Given the description of an element on the screen output the (x, y) to click on. 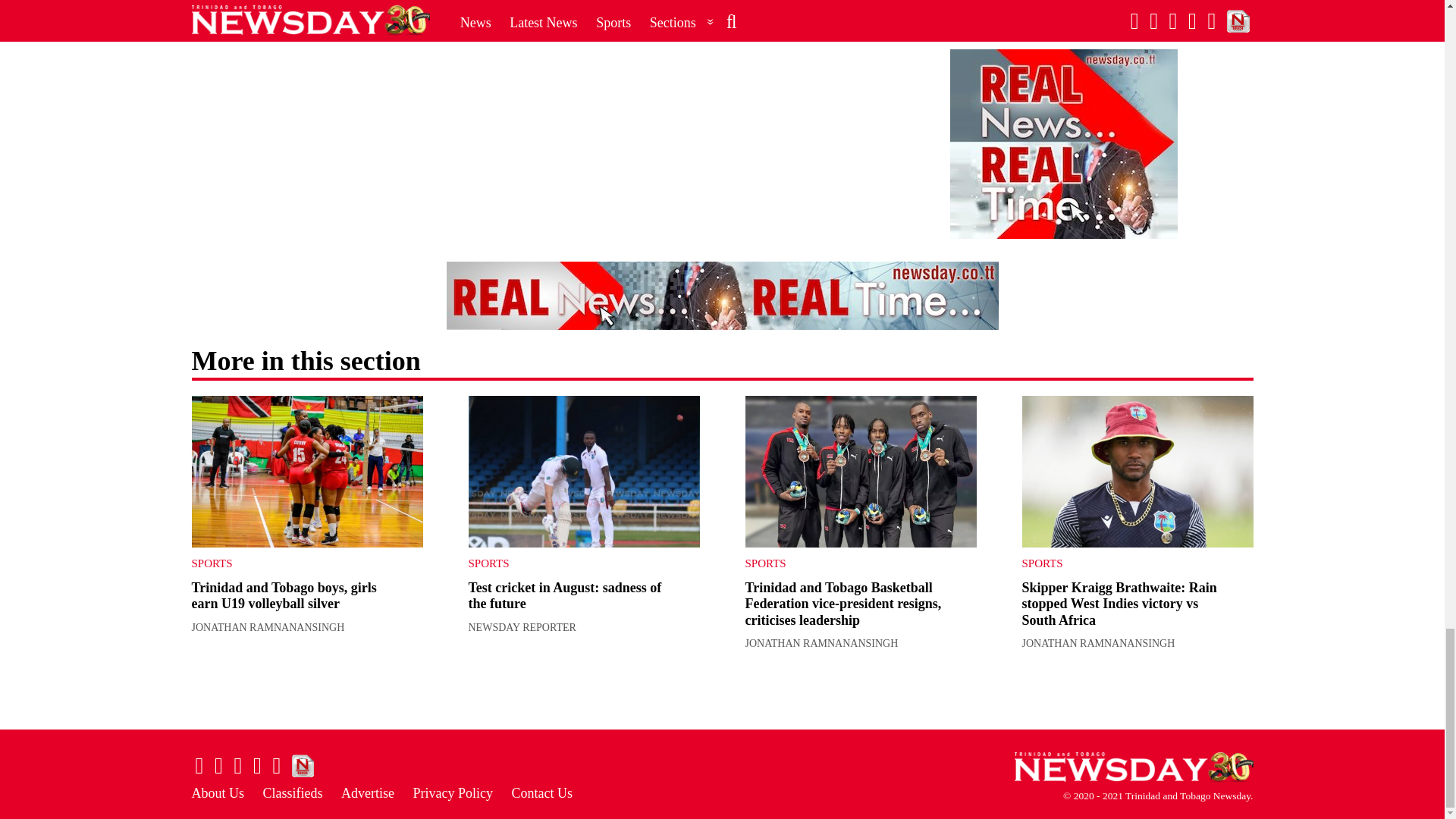
Trinidad and Tobago boys, girls earn U19 volleyball silver (282, 595)
SPORTS (294, 563)
Test cricket in August: sadness of the future (584, 471)
Trinidad and Tobago boys, girls earn U19 volleyball silver (306, 471)
